Given the description of an element on the screen output the (x, y) to click on. 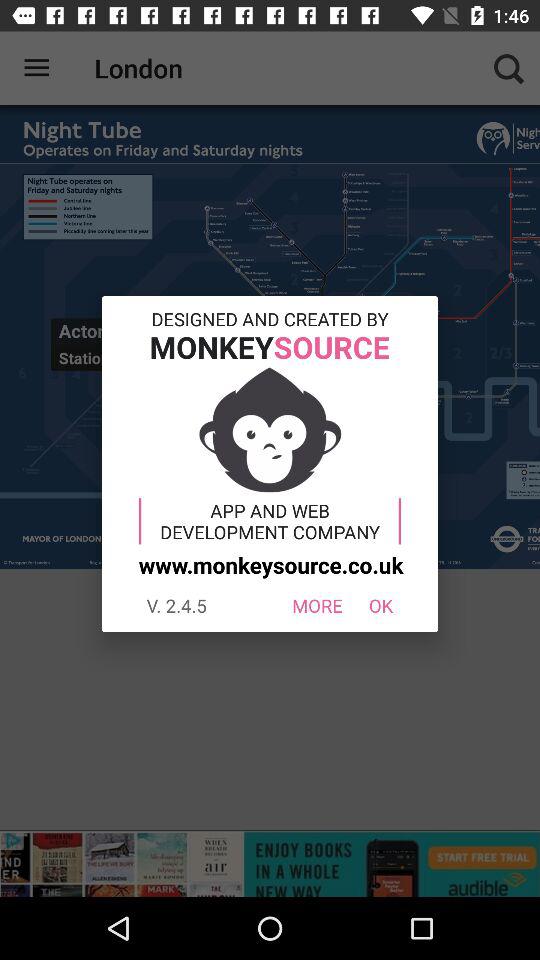
swipe to the www monkeysource co item (268, 564)
